Given the description of an element on the screen output the (x, y) to click on. 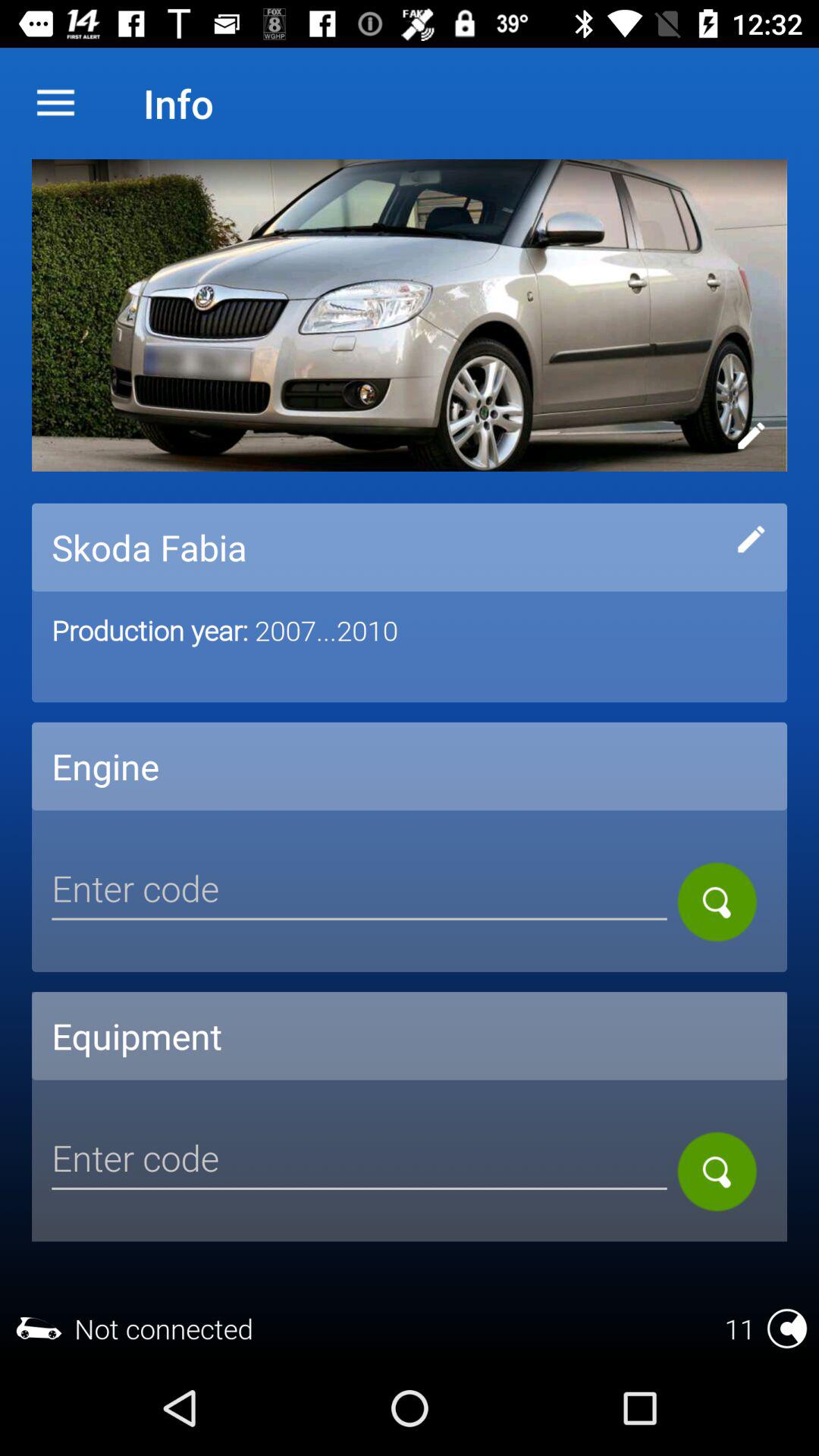
open text box (359, 891)
